Given the description of an element on the screen output the (x, y) to click on. 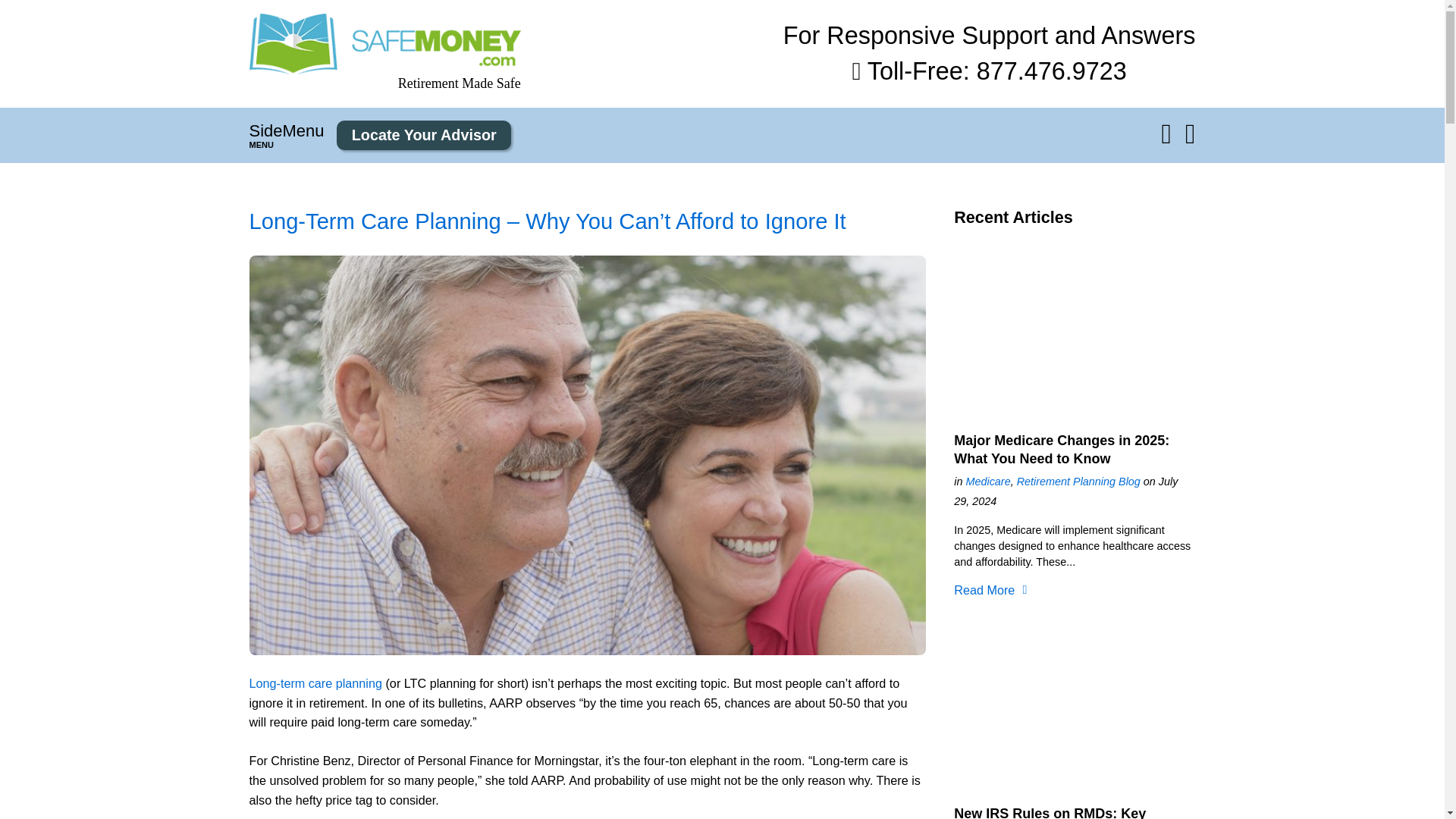
Search for: (1138, 135)
877.476.9723 (1051, 71)
Medicare (987, 481)
Locate Your Advisor (423, 135)
Read more (1049, 812)
New IRS Rules on RMDs: Key Takeaways and Implications (1074, 704)
Major Medicare Changes in 2025: What You Need to Know (1074, 331)
Long-term care planning (314, 683)
Search (21, 7)
SafeMoney.com (383, 43)
Read More (983, 590)
Major Medicare Changes in 2025: What You Need to Know (1061, 449)
New IRS Rules on RMDs: Key Takeaways and Implications (1049, 812)
Read more (1061, 449)
Retirement Planning Blog (1078, 481)
